Given the description of an element on the screen output the (x, y) to click on. 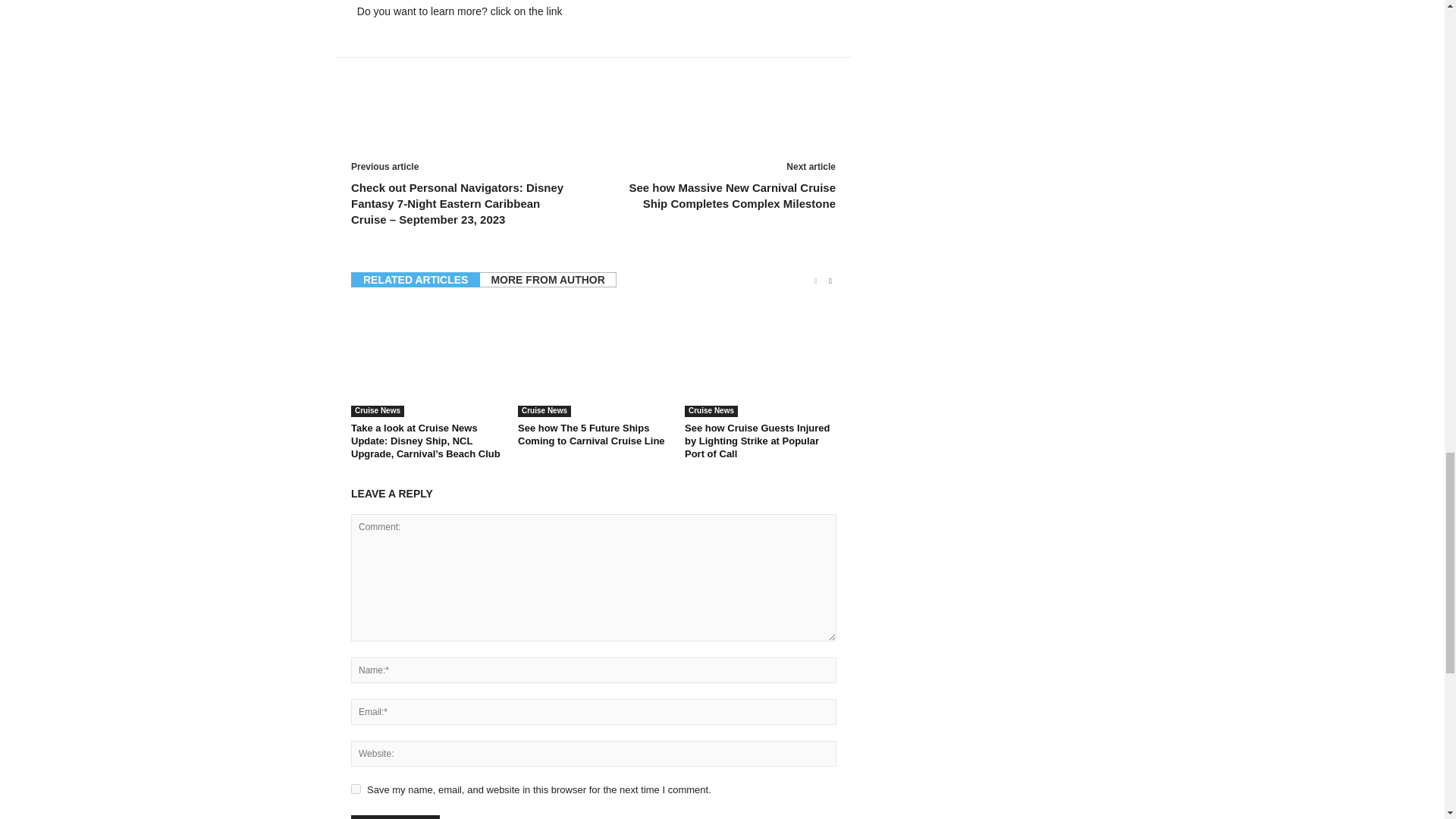
Post Comment (394, 816)
yes (355, 788)
